Given the description of an element on the screen output the (x, y) to click on. 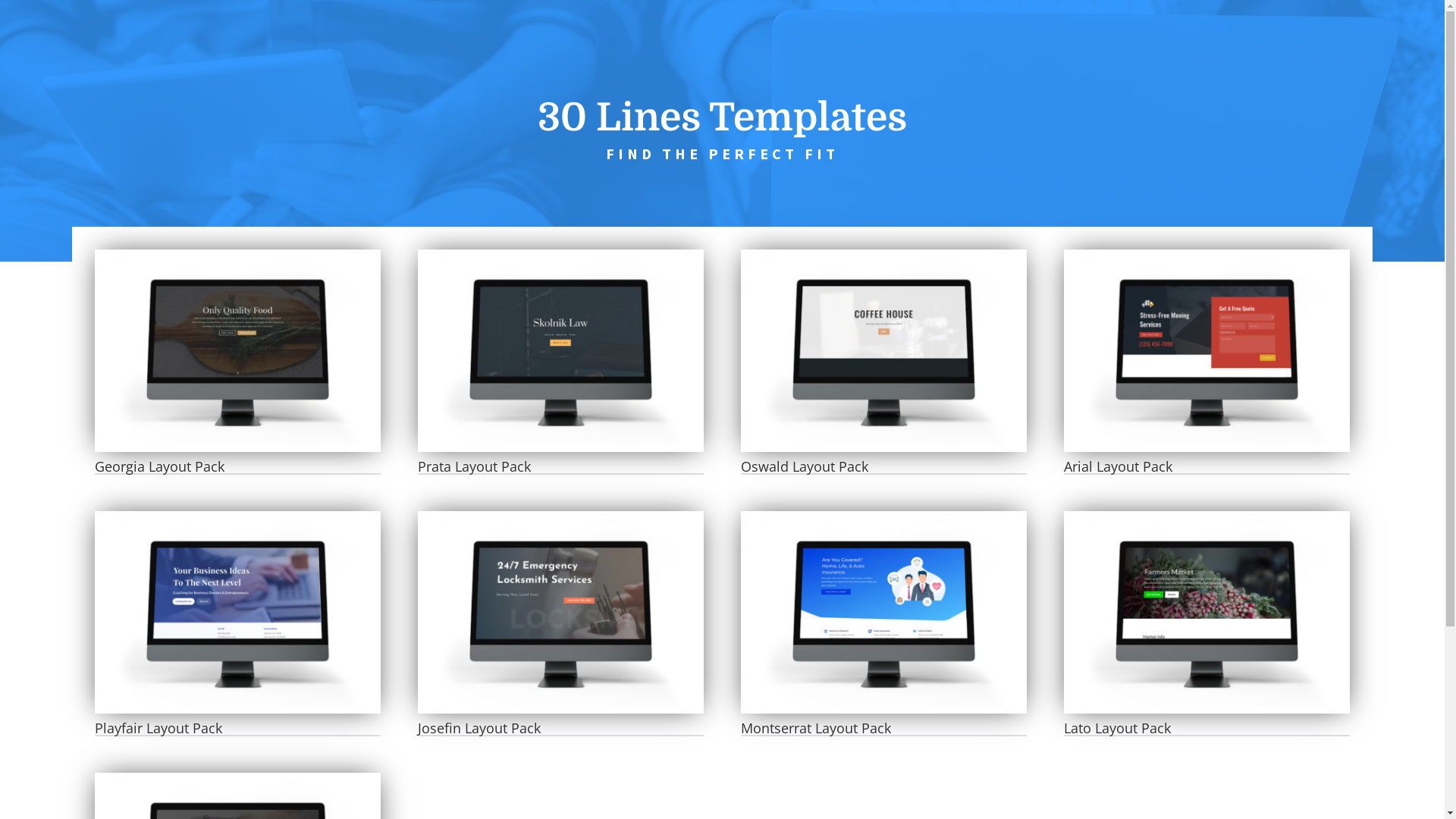
Prata Layout Pack Element type: hover (559, 350)
Montserrat Layout Pack Element type: hover (883, 612)
Arial Layout Pack Element type: text (1117, 466)
Playfair Layout Pack Element type: hover (236, 612)
Prata Layout Pack Element type: text (473, 466)
Georgia Layout Pack Element type: text (159, 466)
Oswald Layout Pack Element type: hover (883, 350)
Georgia Layout Pack Element type: hover (236, 350)
Lato Layout Pack Element type: hover (1206, 612)
Arial Layout Pack Element type: hover (1206, 350)
Lato Layout Pack Element type: text (1116, 727)
Josefin Layout Pack Element type: hover (559, 612)
Josefin Layout Pack Element type: text (478, 727)
Playfair Layout Pack Element type: text (158, 727)
Montserrat Layout Pack Element type: text (815, 727)
Oswald Layout Pack Element type: text (804, 466)
